Given the description of an element on the screen output the (x, y) to click on. 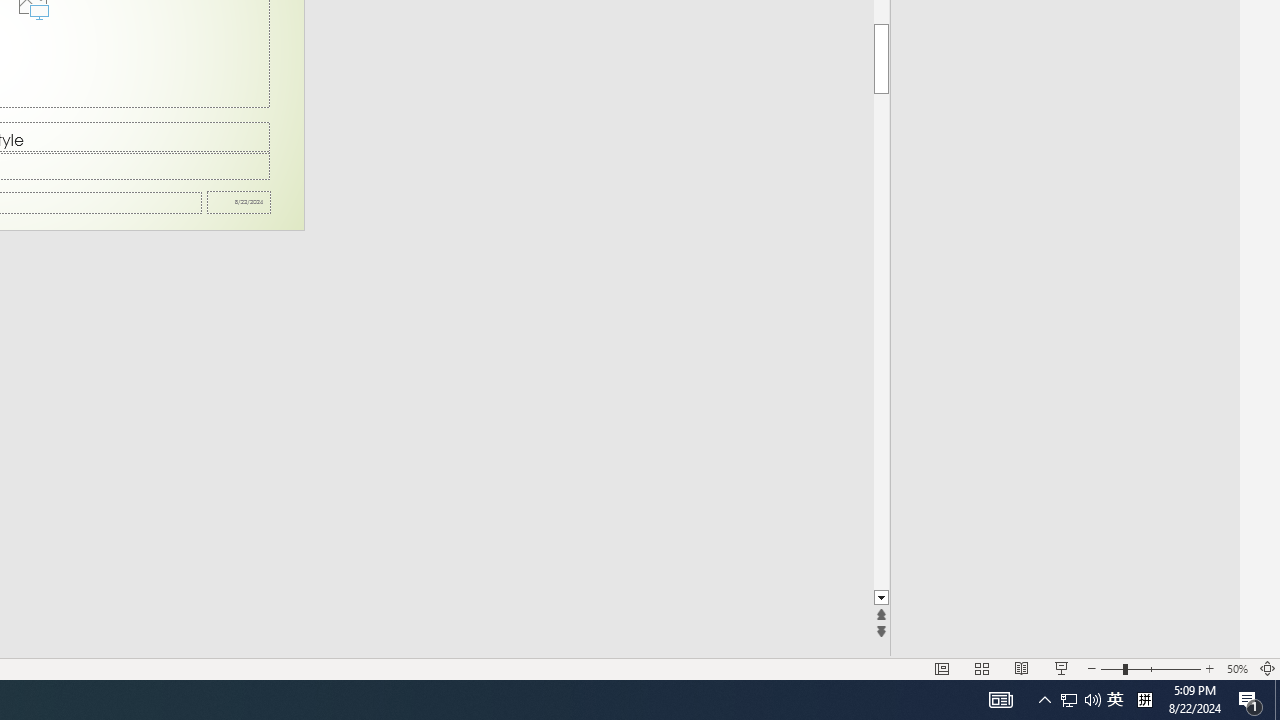
Zoom 50% (1236, 668)
Date (239, 201)
